Given the description of an element on the screen output the (x, y) to click on. 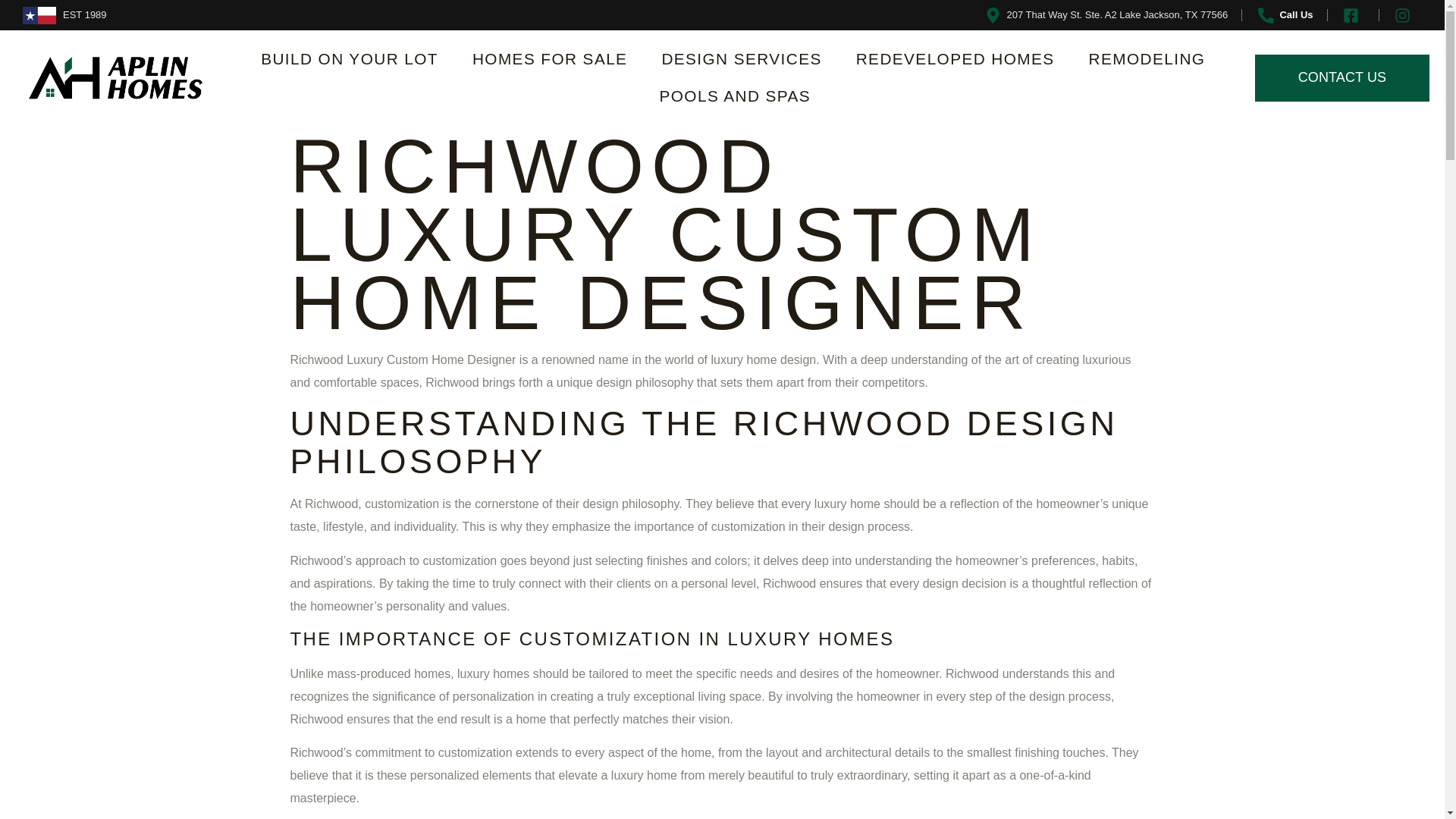
CONTACT US (1342, 77)
HOMES FOR SALE (550, 58)
REMODELING (1147, 58)
POOLS AND SPAS (736, 96)
Call Us (1284, 15)
BUILD ON YOUR LOT (349, 58)
REDEVELOPED HOMES (955, 58)
DESIGN SERVICES (740, 58)
